Given the description of an element on the screen output the (x, y) to click on. 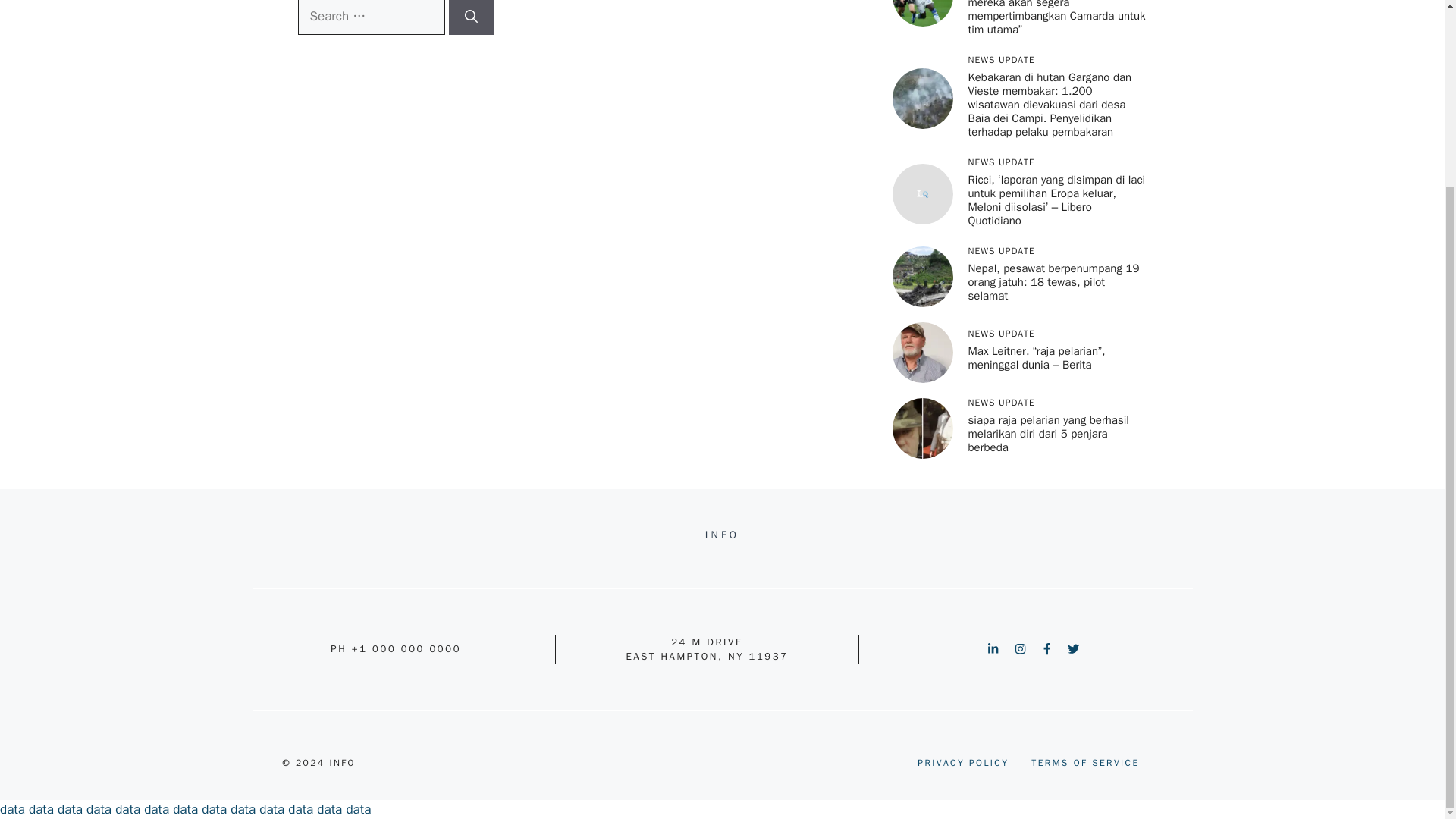
data (41, 809)
TERMS OF SERVICE (1084, 762)
PRIVACY POLICY (963, 762)
Search for: (370, 17)
data (12, 809)
